Given the description of an element on the screen output the (x, y) to click on. 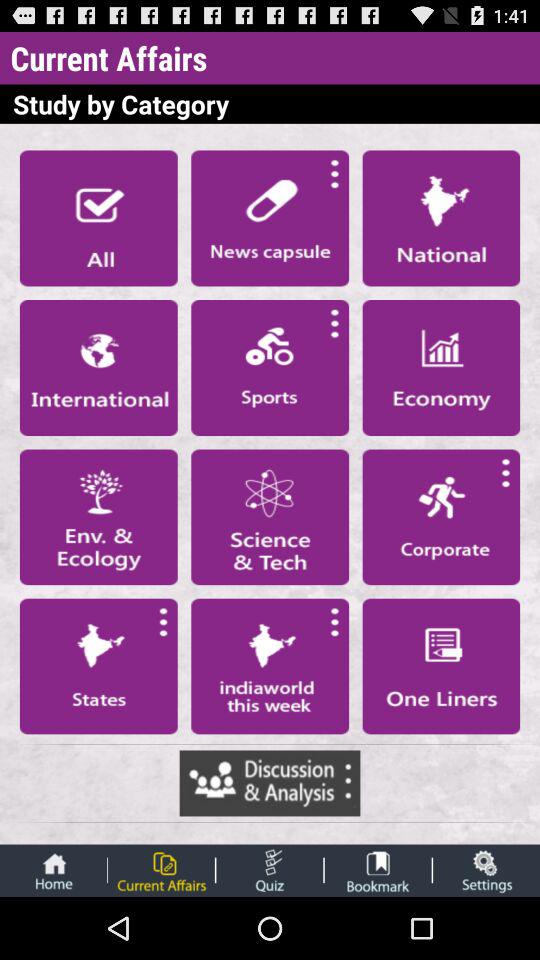
view science button (270, 517)
